Given the description of an element on the screen output the (x, y) to click on. 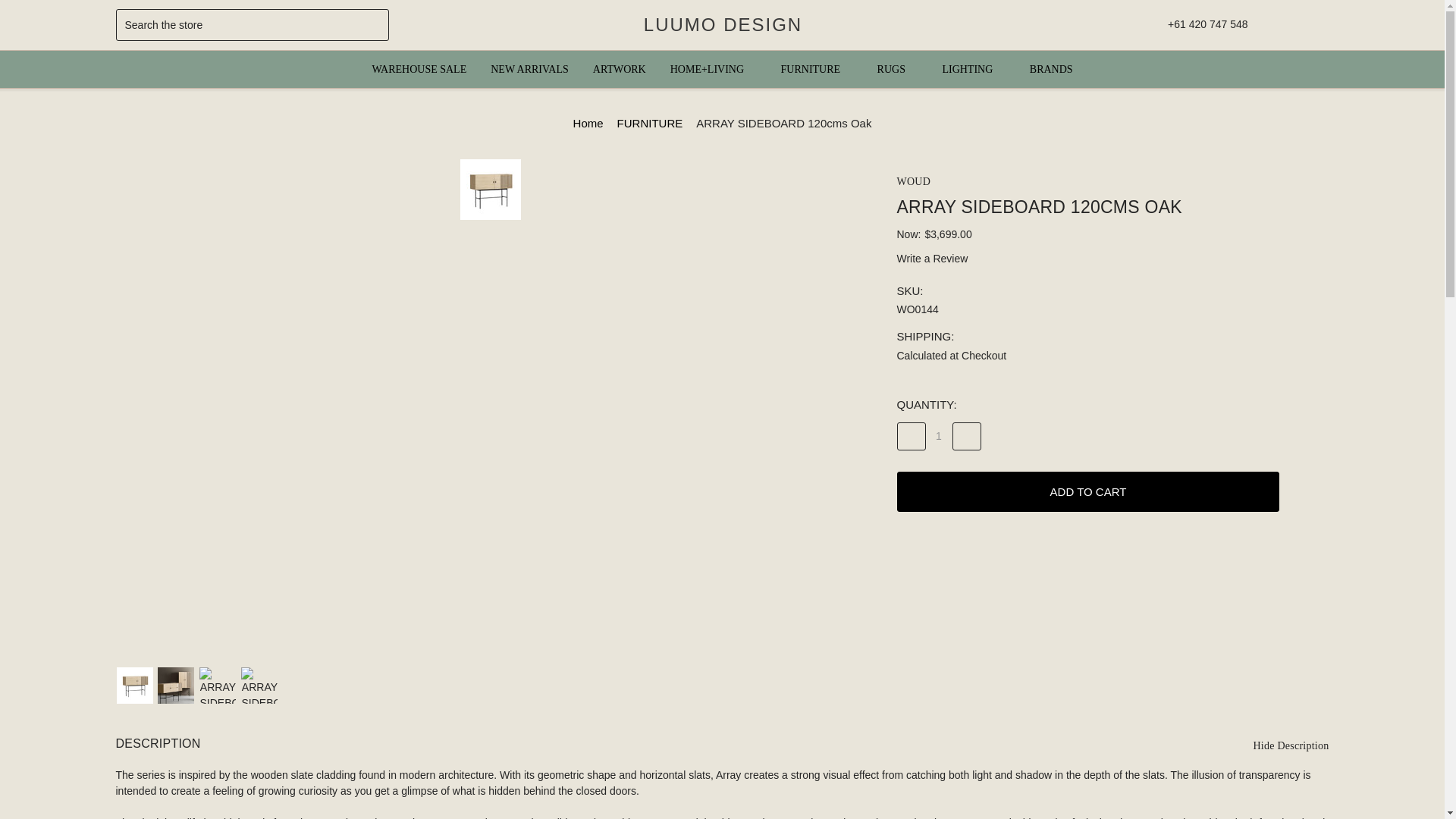
WAREHOUSE SALE (419, 68)
Add to Cart (1087, 491)
ARRAY SIDEBOARD 120cms Oak (217, 685)
FURNITURE (816, 68)
ARRAY SIDEBOARD 120cms Oak (175, 685)
LIGHTING (973, 68)
ARRAY SIDEBOARD 120cms Oak (489, 189)
RUGS (897, 68)
NEW ARRIVALS (529, 68)
ARRAY SIDEBOARD 120cms Oak (259, 685)
ARRAY SIDEBOARD 120cms Oak (134, 685)
LUUMO DESIGN (722, 24)
1 (938, 435)
ARTWORK (619, 68)
